Given the description of an element on the screen output the (x, y) to click on. 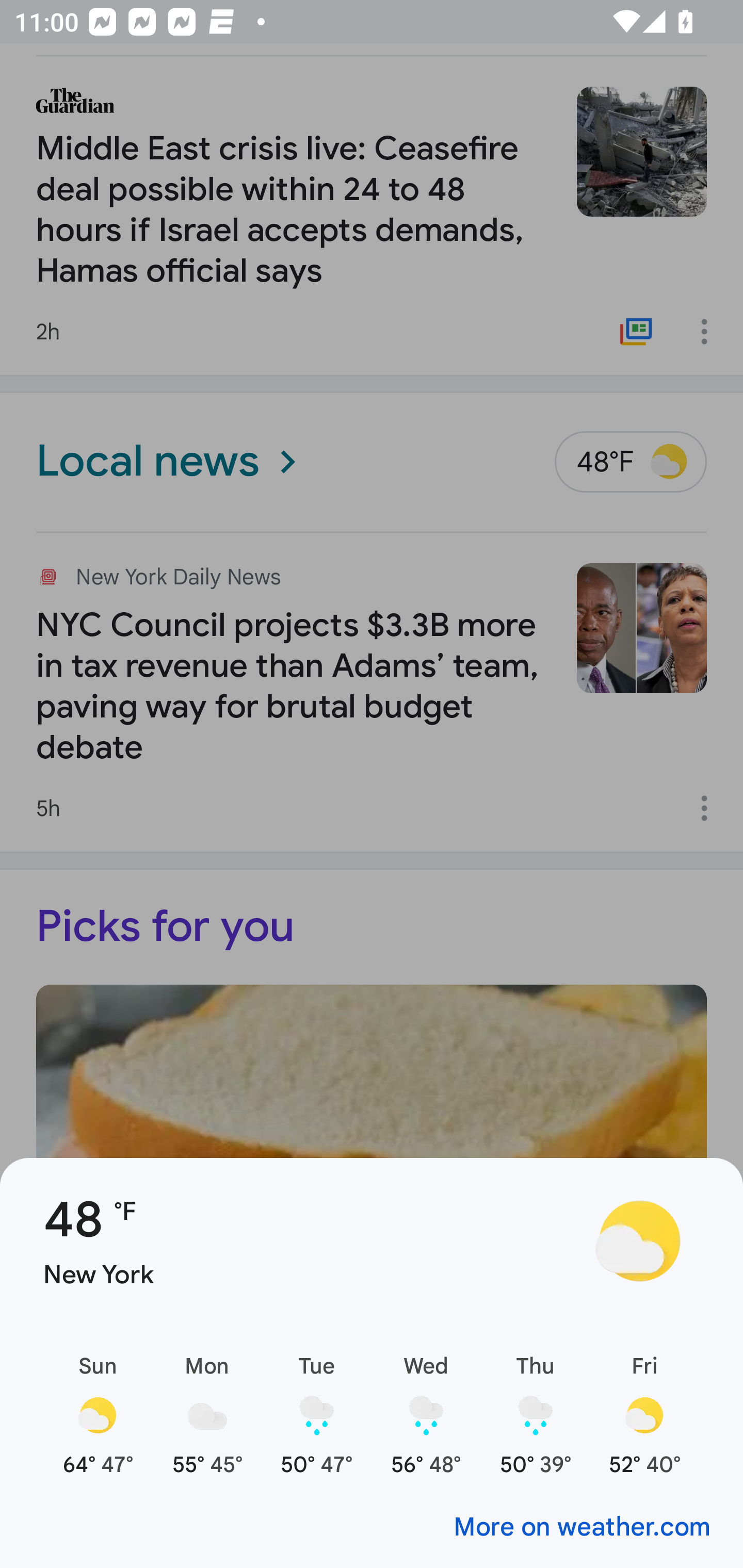
More on weather.com (371, 1524)
